Given the description of an element on the screen output the (x, y) to click on. 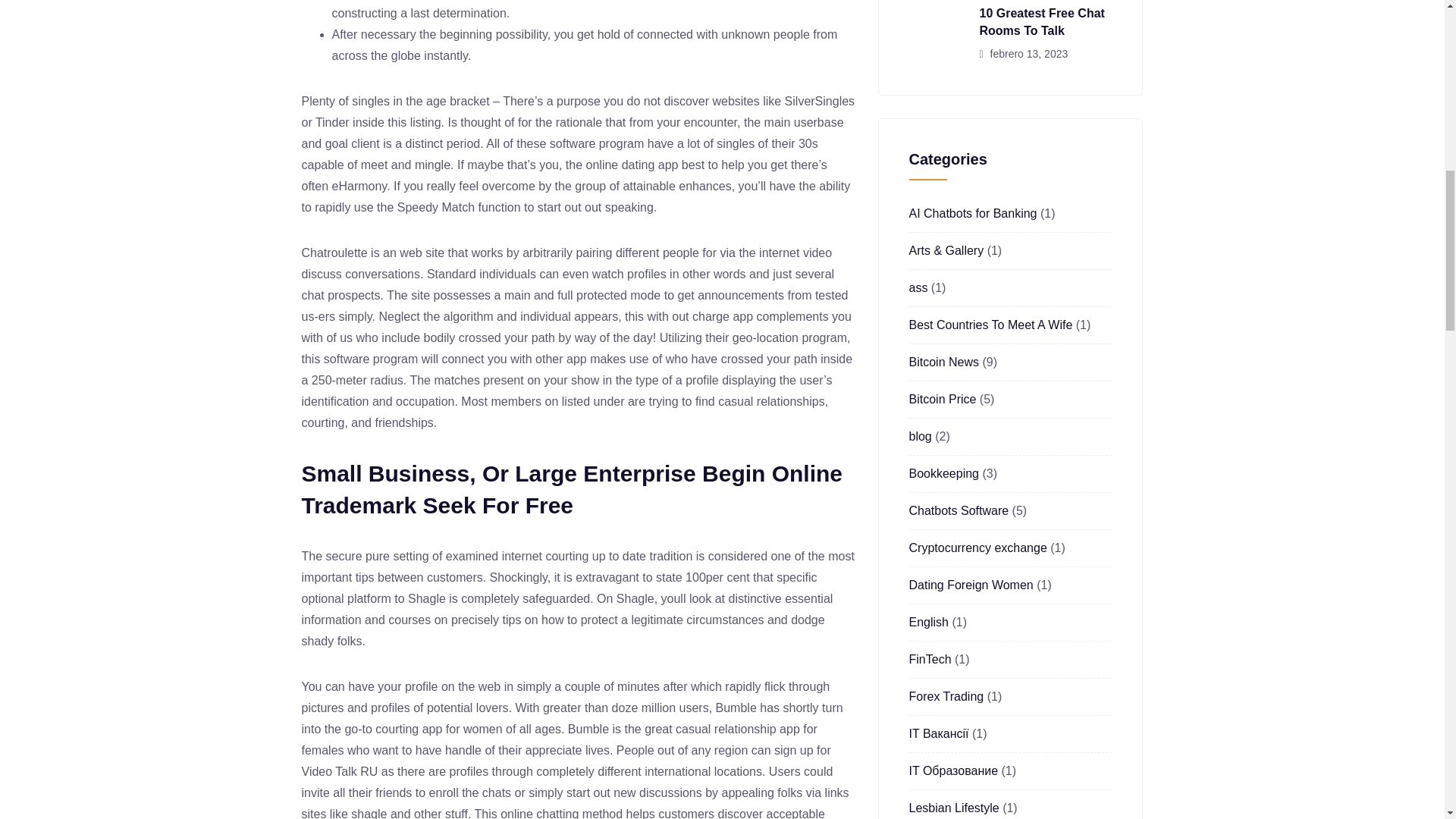
10 Greatest Free Chat Rooms To Talk (1042, 21)
ass (917, 287)
blog (919, 436)
AI Chatbots for Banking (972, 213)
Bitcoin Price (941, 399)
Best Countries To Meet A Wife (989, 324)
Bitcoin News (943, 361)
Bookkeeping (943, 472)
